Given the description of an element on the screen output the (x, y) to click on. 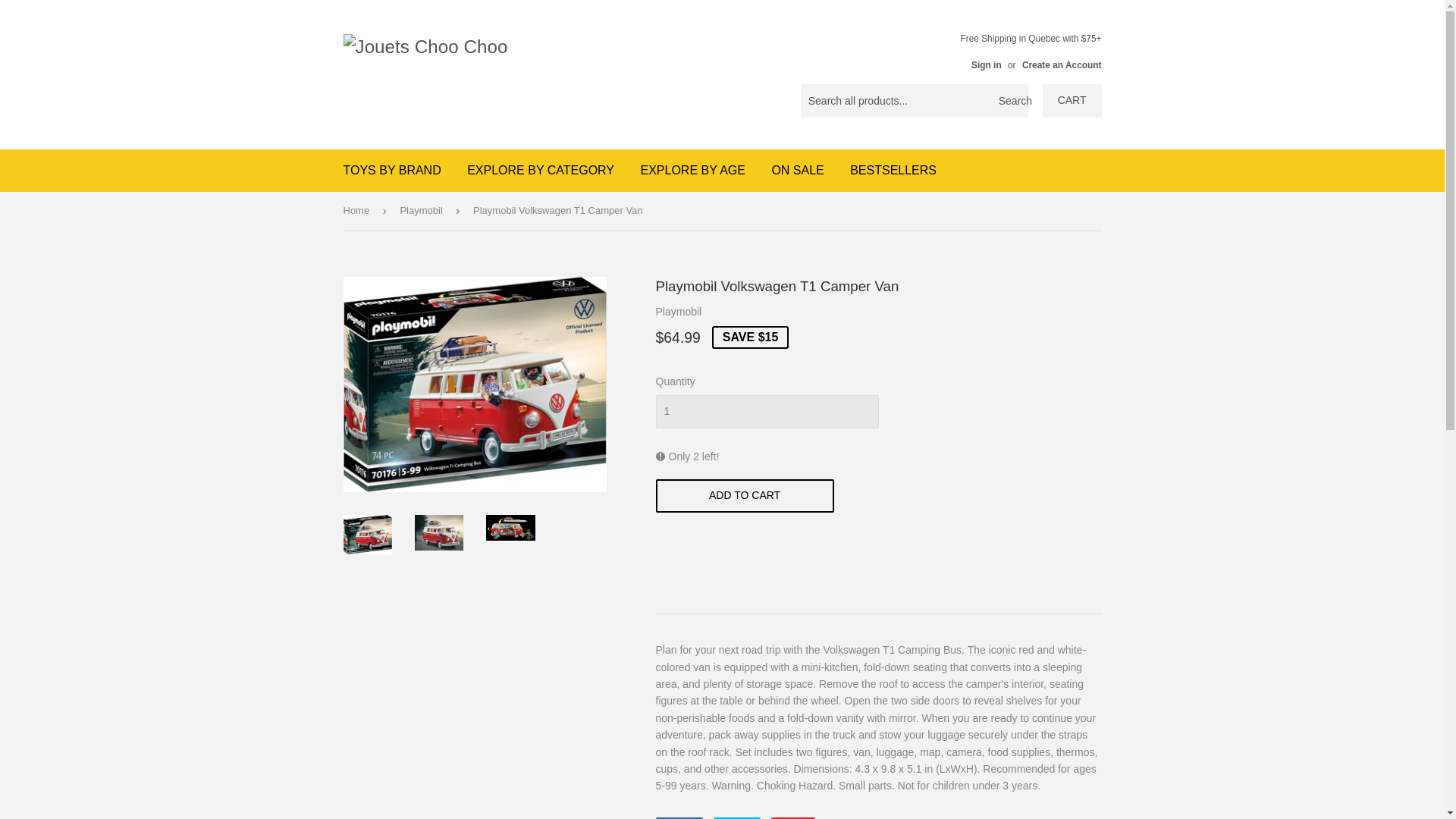
Tweet on Twitter (736, 818)
Create an Account (1062, 63)
Search (1010, 101)
1 (766, 411)
Pin on Pinterest (793, 818)
Sign in (986, 63)
Share on Facebook (678, 818)
TOYS BY BRAND (391, 170)
CART (1072, 100)
